Given the description of an element on the screen output the (x, y) to click on. 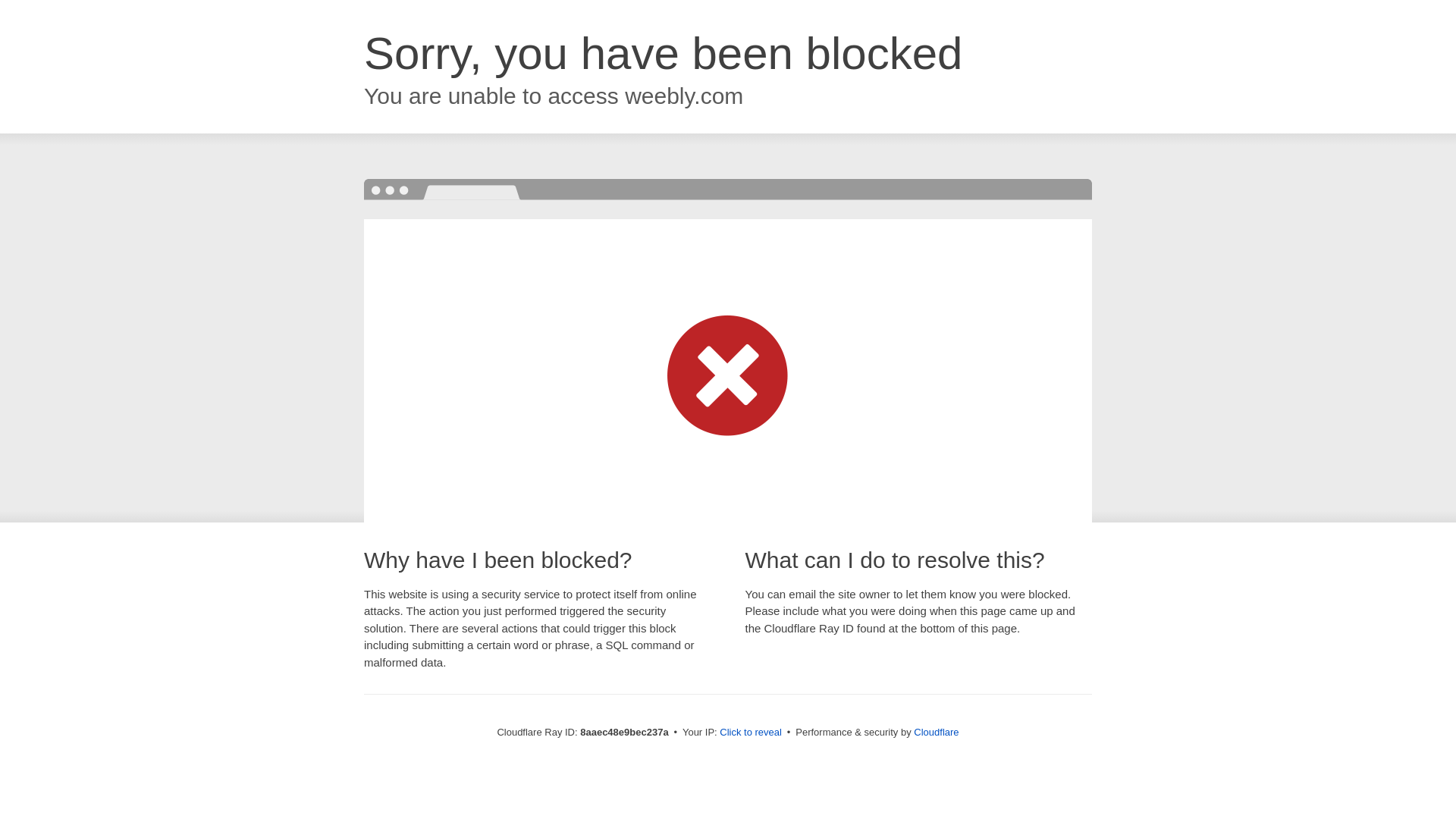
Click to reveal (750, 732)
Cloudflare (936, 731)
